Given the description of an element on the screen output the (x, y) to click on. 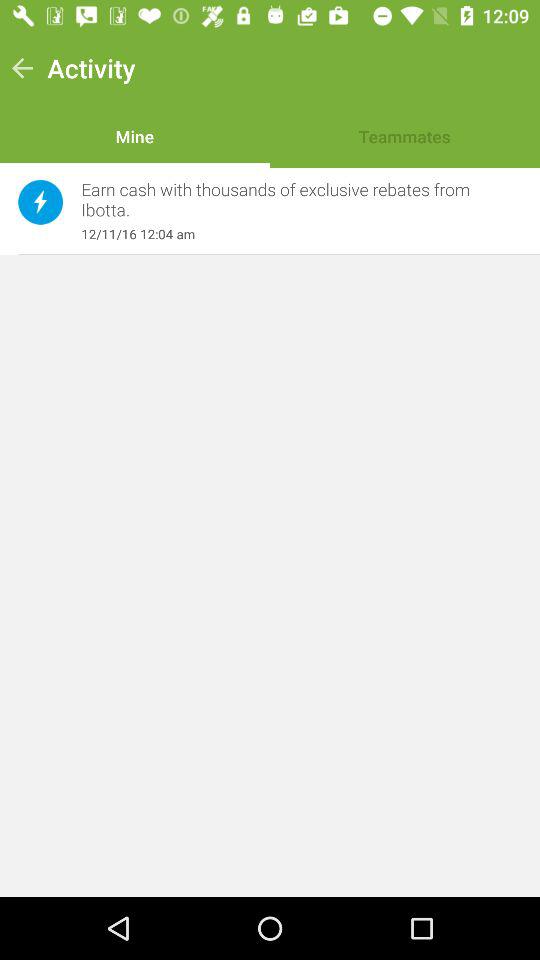
launch item above the 12 11 16 (291, 200)
